Given the description of an element on the screen output the (x, y) to click on. 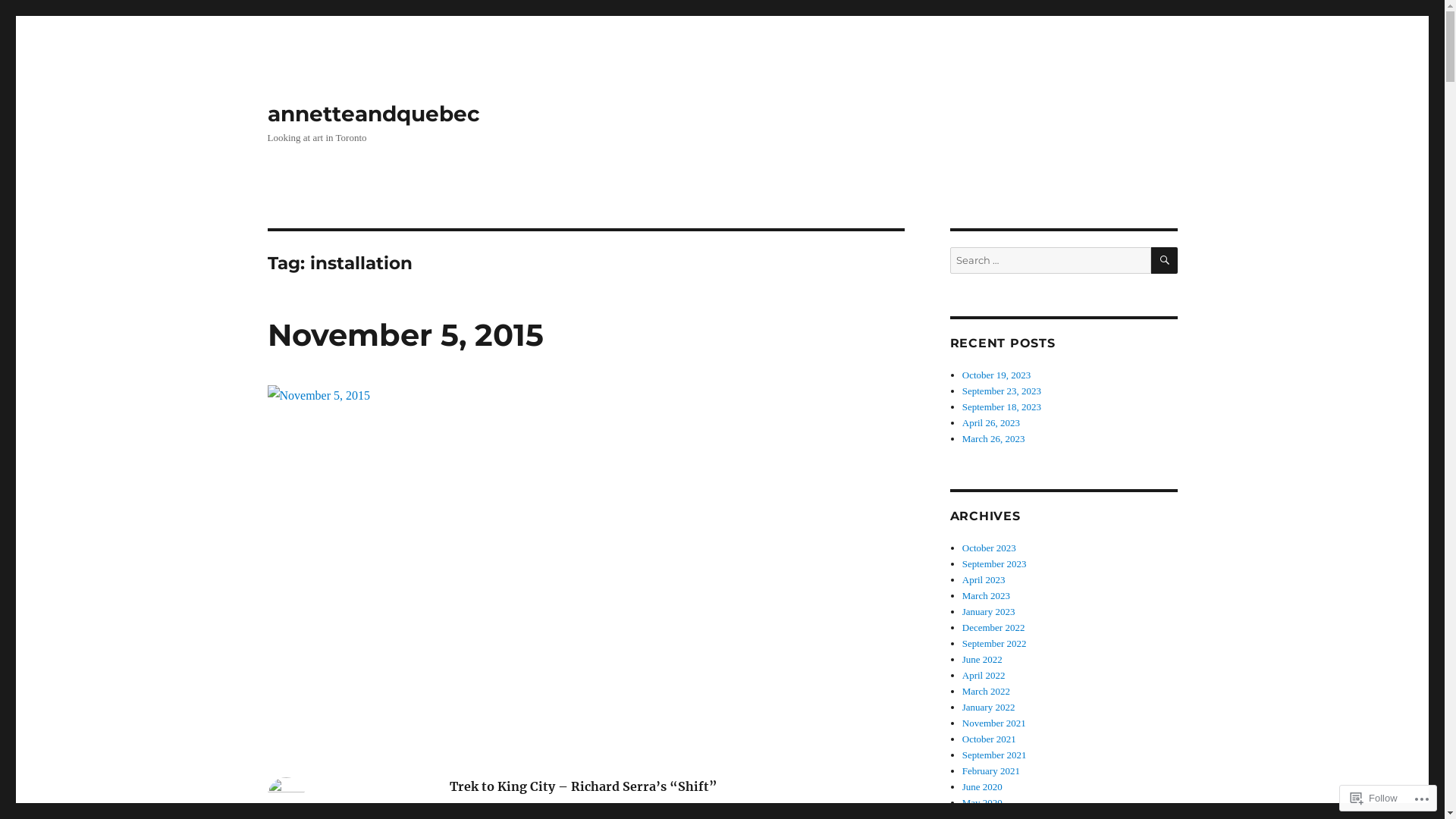
April 2022 Element type: text (983, 674)
January 2023 Element type: text (988, 611)
January 2022 Element type: text (988, 706)
November 2021 Element type: text (994, 722)
October 2021 Element type: text (989, 738)
March 2023 Element type: text (986, 595)
May 2020 Element type: text (982, 802)
March 2022 Element type: text (986, 690)
November 5, 2015 Element type: text (404, 334)
September 2023 Element type: text (994, 563)
September 2022 Element type: text (994, 643)
December 2022 Element type: text (993, 627)
October 19, 2023 Element type: text (996, 374)
Follow Element type: text (1373, 797)
September 18, 2023 Element type: text (1001, 406)
February 2021 Element type: text (990, 770)
September 23, 2023 Element type: text (1001, 390)
October 2023 Element type: text (989, 547)
April 2023 Element type: text (983, 579)
September 2021 Element type: text (994, 754)
annetteandquebec Element type: text (372, 113)
March 26, 2023 Element type: text (993, 438)
April 26, 2023 Element type: text (990, 422)
June 2022 Element type: text (982, 659)
June 2020 Element type: text (982, 786)
